Given the description of an element on the screen output the (x, y) to click on. 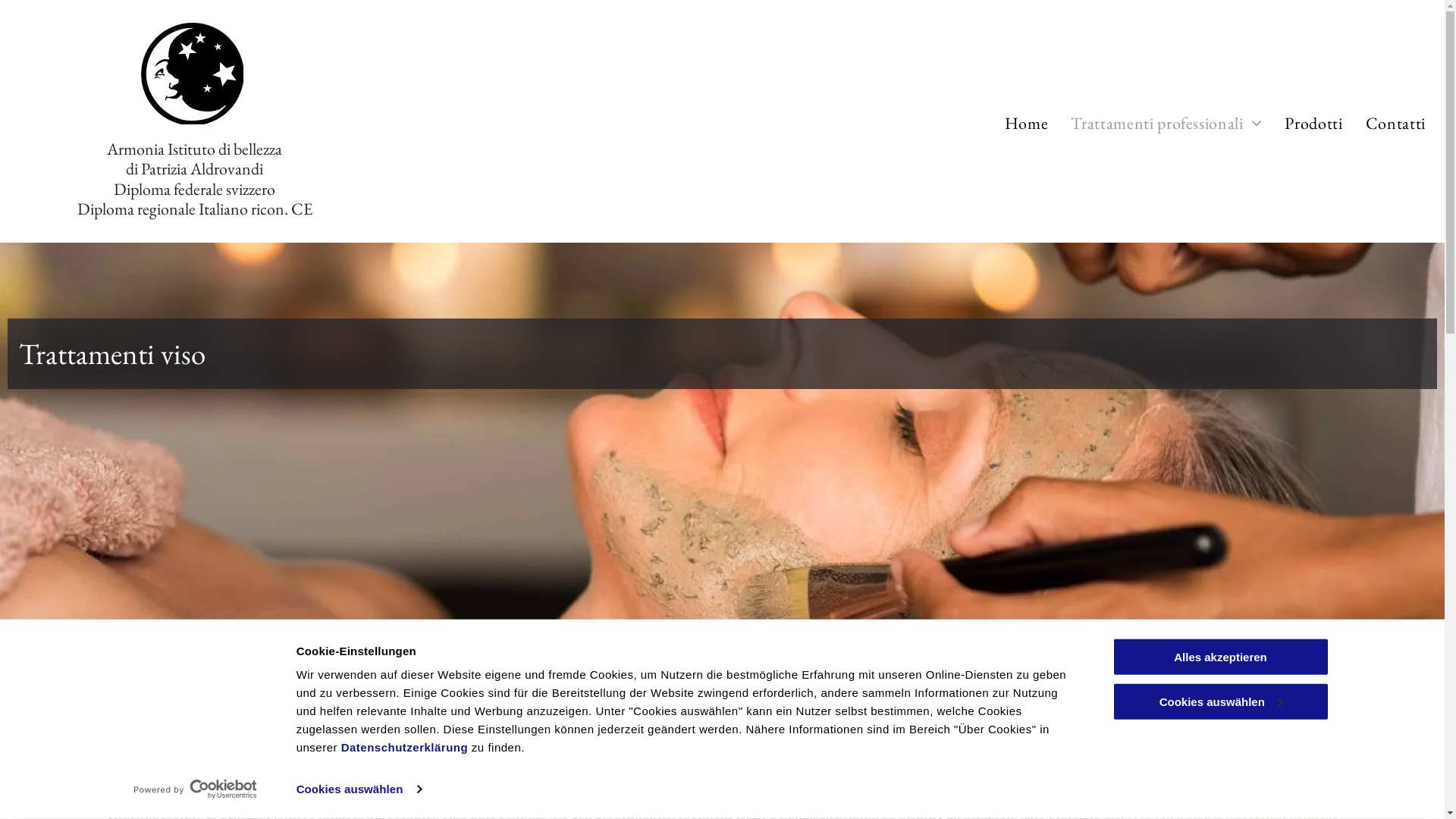
Contatti Element type: text (1395, 123)
Alles akzeptieren Element type: text (1219, 656)
Prenotare ora Element type: text (97, 771)
Trattamenti professionali Element type: text (1166, 123)
Prodotti Element type: text (1313, 123)
Home Element type: text (1026, 123)
